Given the description of an element on the screen output the (x, y) to click on. 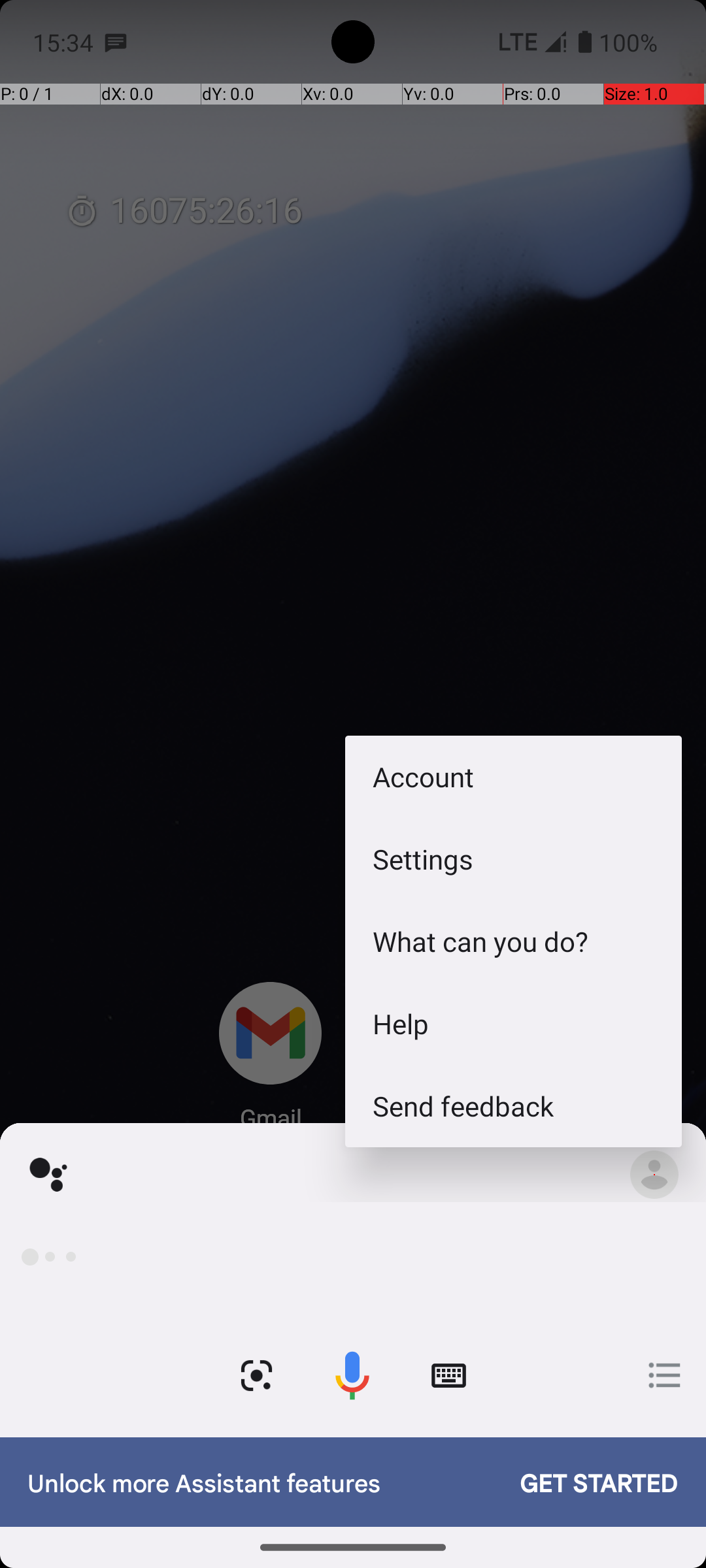
Account Element type: android.widget.TextView (513, 776)
What can you do? Element type: android.widget.TextView (513, 940)
Send feedback Element type: android.widget.TextView (513, 1105)
